Given the description of an element on the screen output the (x, y) to click on. 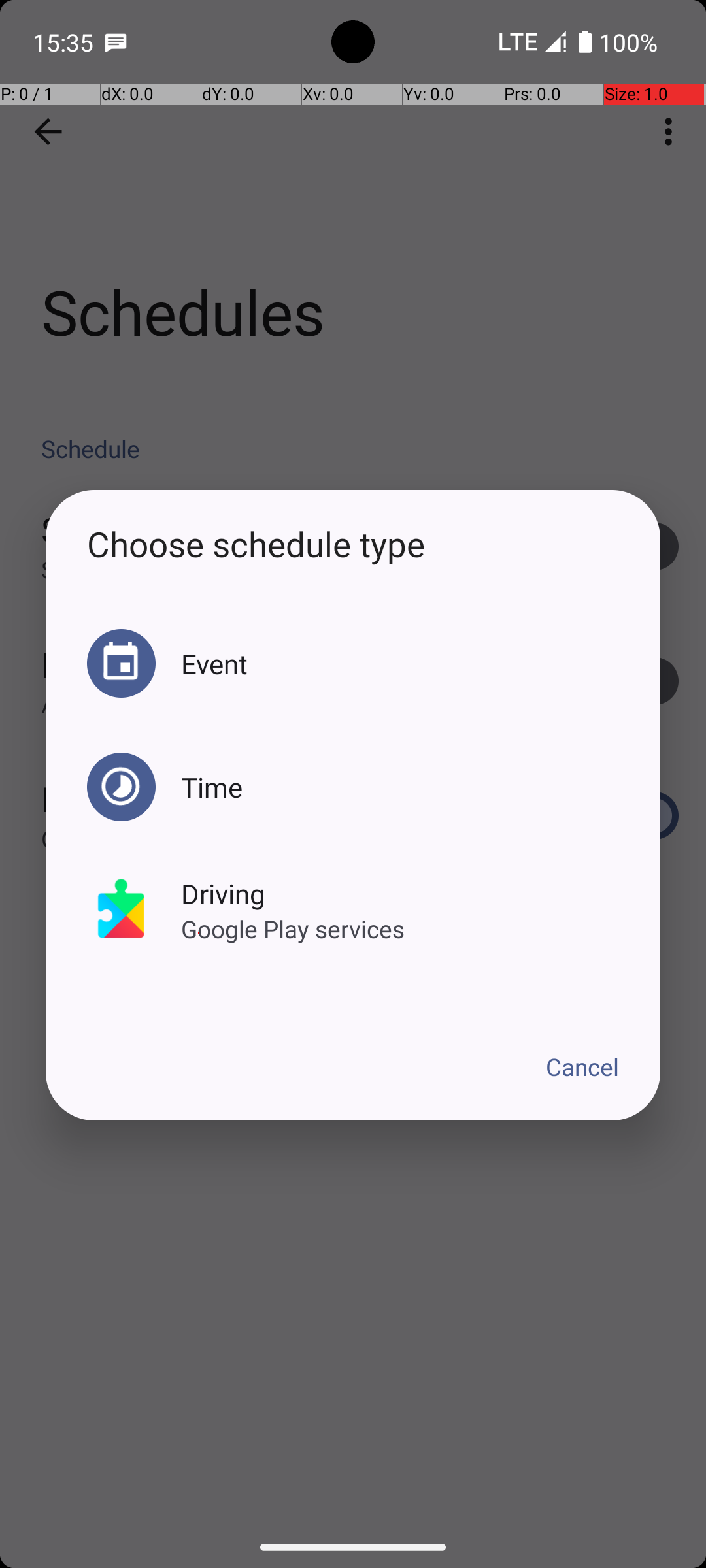
Choose schedule type Element type: android.widget.TextView (352, 543)
Google Play services Element type: android.widget.TextView (293, 928)
